Given the description of an element on the screen output the (x, y) to click on. 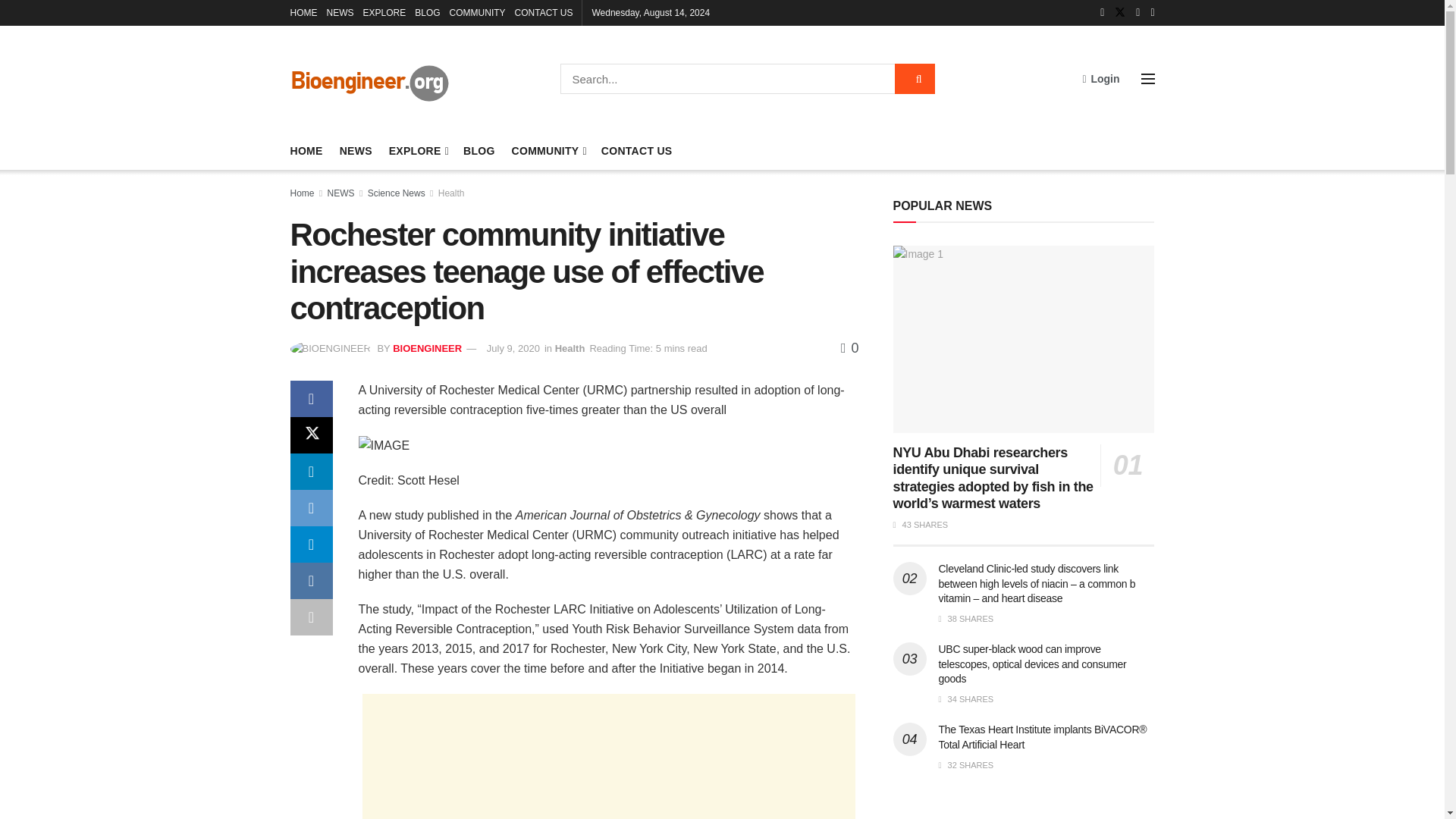
COMMUNITY (477, 12)
BLOG (426, 12)
HOME (305, 150)
EXPLORE (384, 12)
Login (1100, 78)
CONTACT US (544, 12)
NEWS (355, 150)
EXPLORE (417, 150)
NEWS (339, 12)
HOME (303, 12)
